Given the description of an element on the screen output the (x, y) to click on. 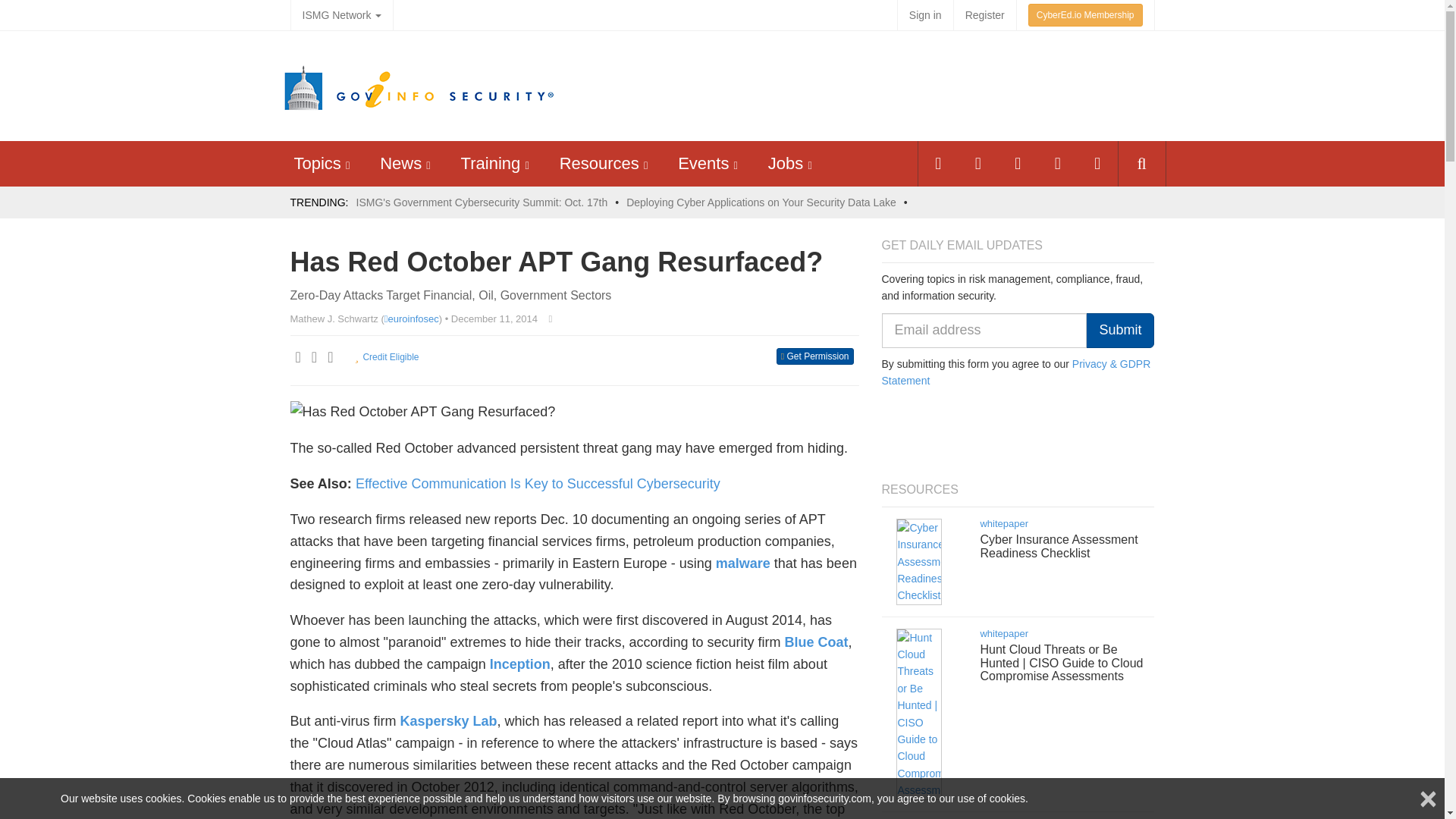
Sign in (925, 15)
Register (984, 15)
CyberEd.io Membership (1084, 15)
Topics (317, 162)
ISMG Network (341, 15)
